Given the description of an element on the screen output the (x, y) to click on. 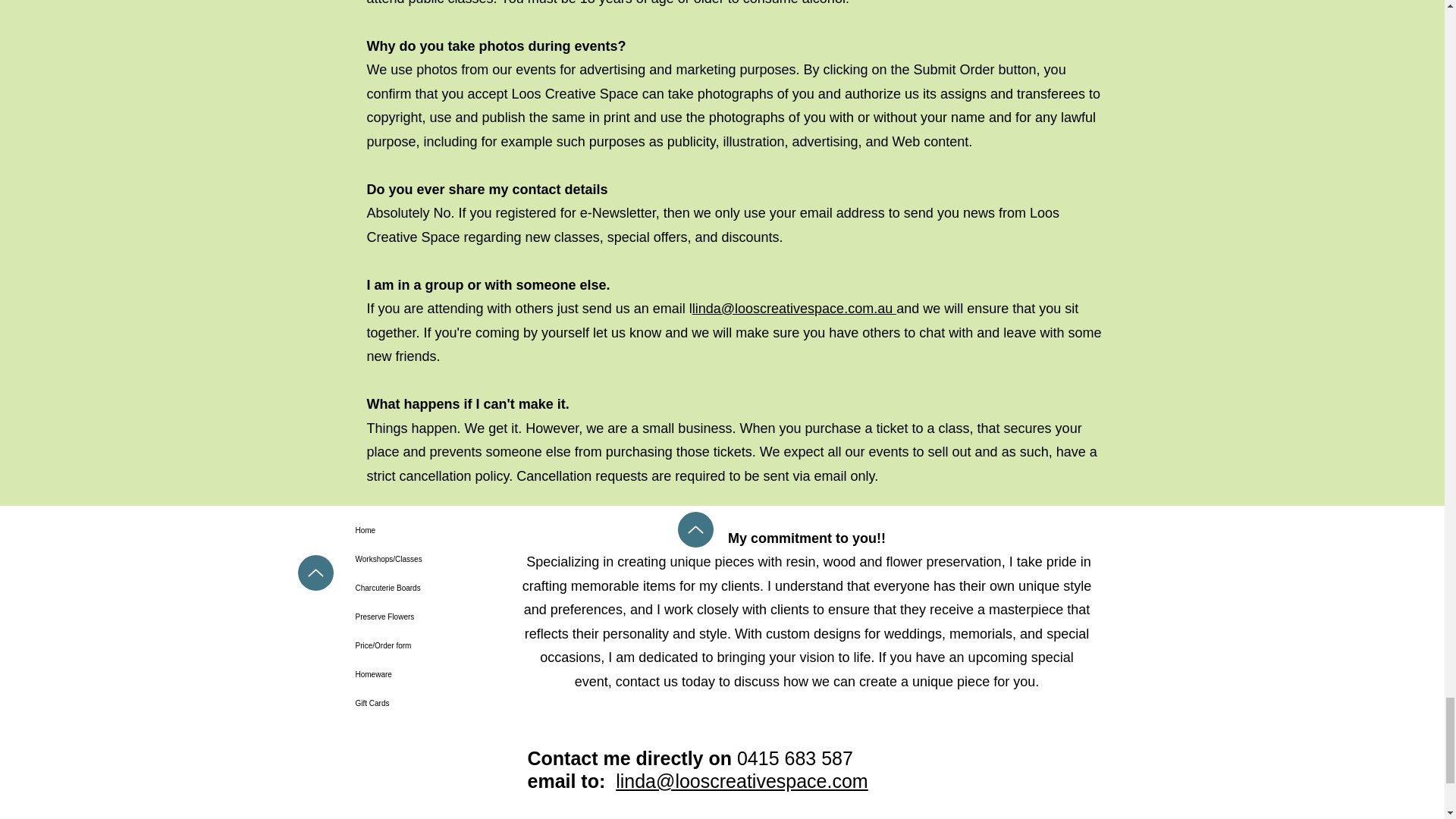
Preserve Flowers (410, 616)
Homeware (410, 674)
Gift Cards (410, 703)
Charcuterie Boards (410, 588)
Home (410, 530)
